Given the description of an element on the screen output the (x, y) to click on. 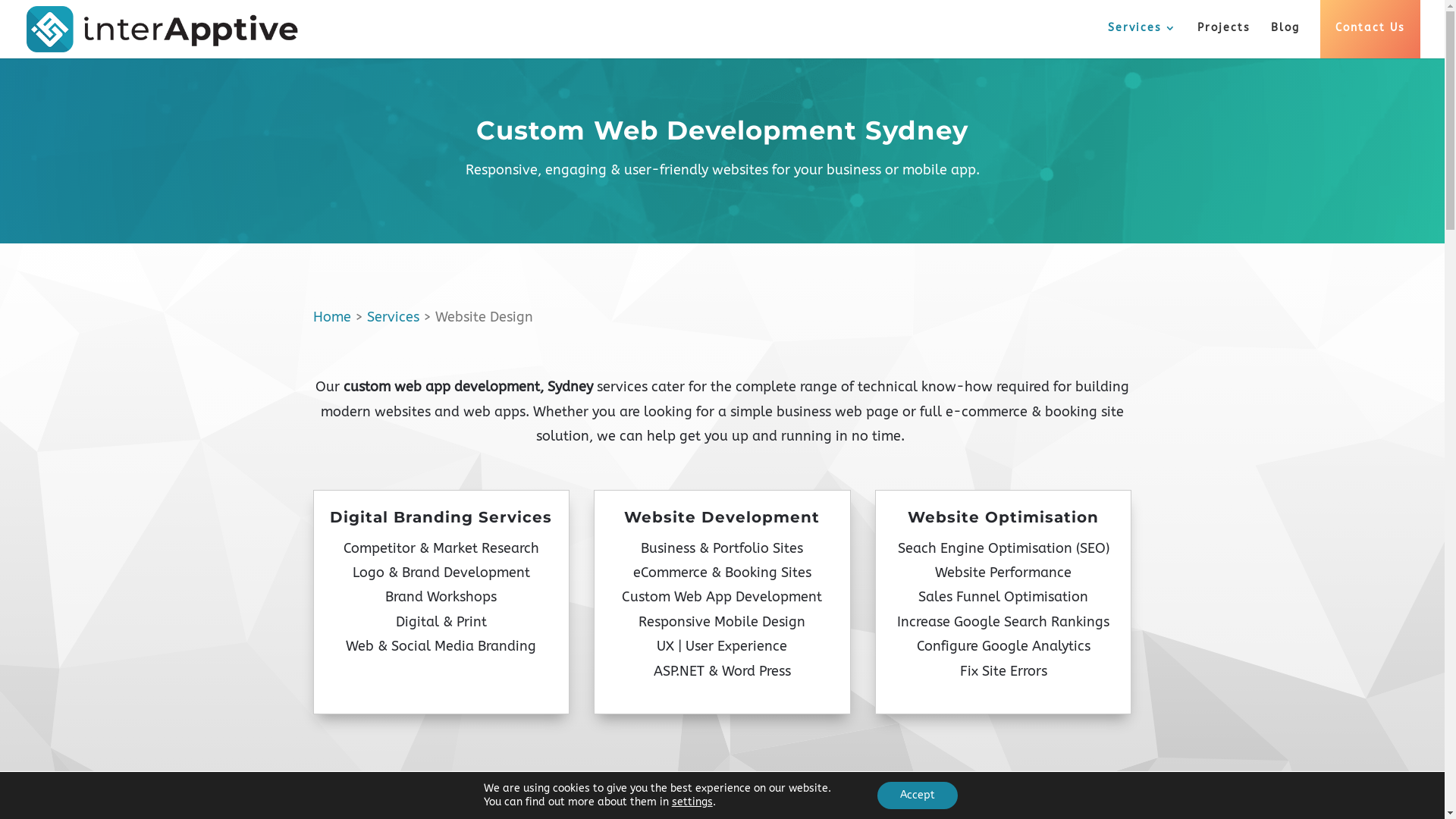
Contact Us Element type: text (1370, 29)
settings Element type: text (691, 802)
Accept Element type: text (917, 795)
Services Element type: text (1141, 29)
Projects Element type: text (1223, 29)
Blog Element type: text (1284, 29)
Home Element type: text (331, 316)
Services Element type: text (393, 316)
